Given the description of an element on the screen output the (x, y) to click on. 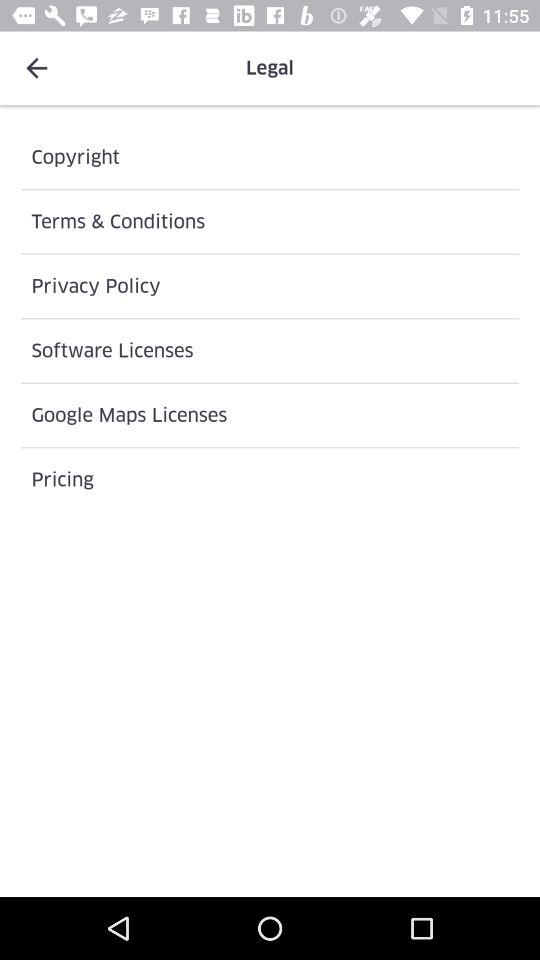
flip until the google maps licenses icon (270, 415)
